Given the description of an element on the screen output the (x, y) to click on. 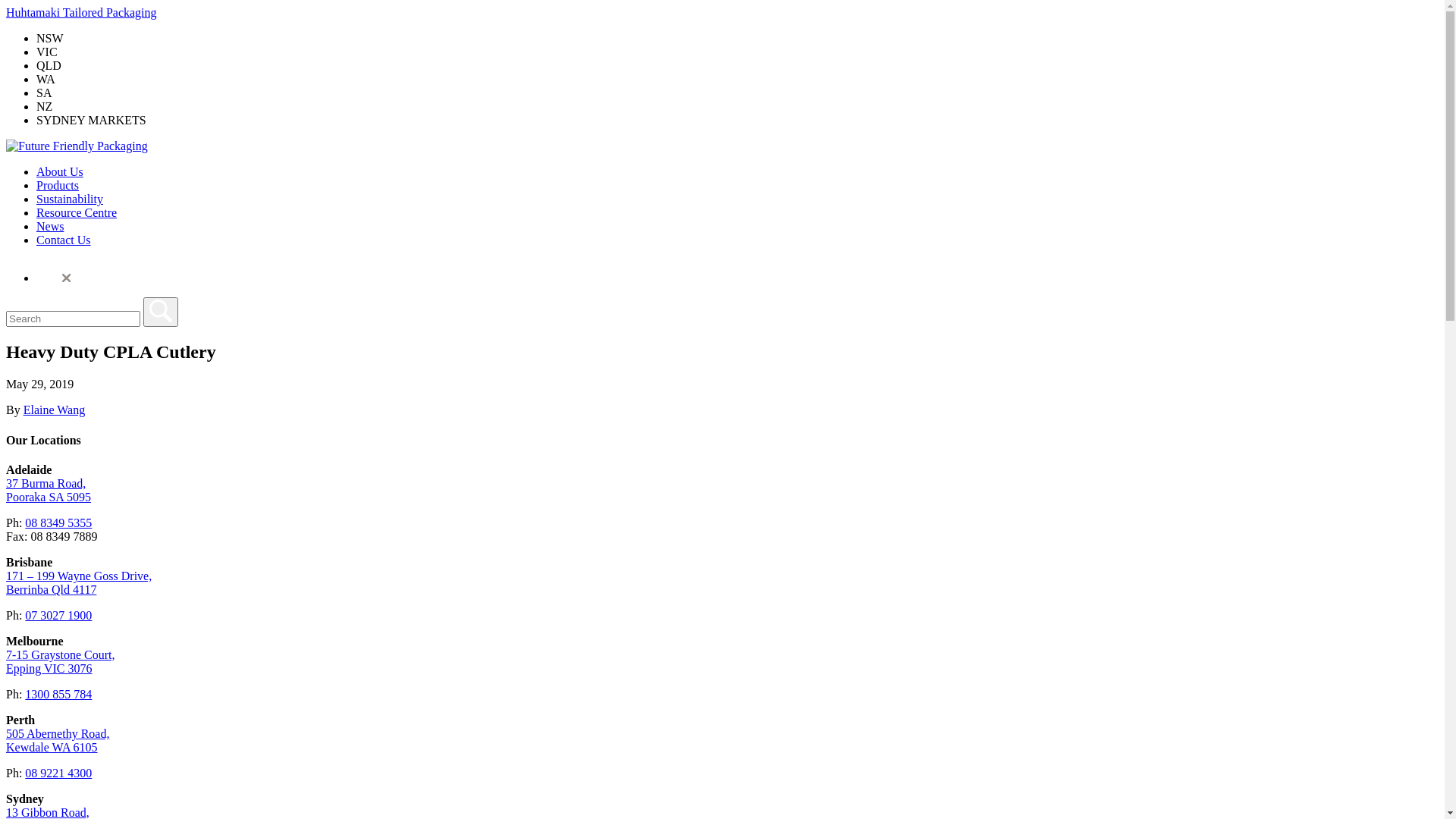
Contact Us Element type: text (63, 239)
Elaine Wang Element type: text (54, 409)
7-15 Graystone Court,
Epping VIC 3076 Element type: text (60, 661)
08 9221 4300 Element type: text (58, 772)
About Us Element type: text (59, 171)
08 8349 5355 Element type: text (58, 522)
37 Burma Road,
Pooraka SA 5095 Element type: text (48, 489)
505 Abernethy Road,
Kewdale WA 6105 Element type: text (57, 740)
07 3027 1900 Element type: text (58, 614)
1300 855 784 Element type: text (58, 693)
Products Element type: text (57, 184)
Resource Centre Element type: text (76, 212)
Huhtamaki Tailored Packaging Element type: text (81, 12)
News Element type: text (49, 225)
Sustainability Element type: text (69, 198)
